Given the description of an element on the screen output the (x, y) to click on. 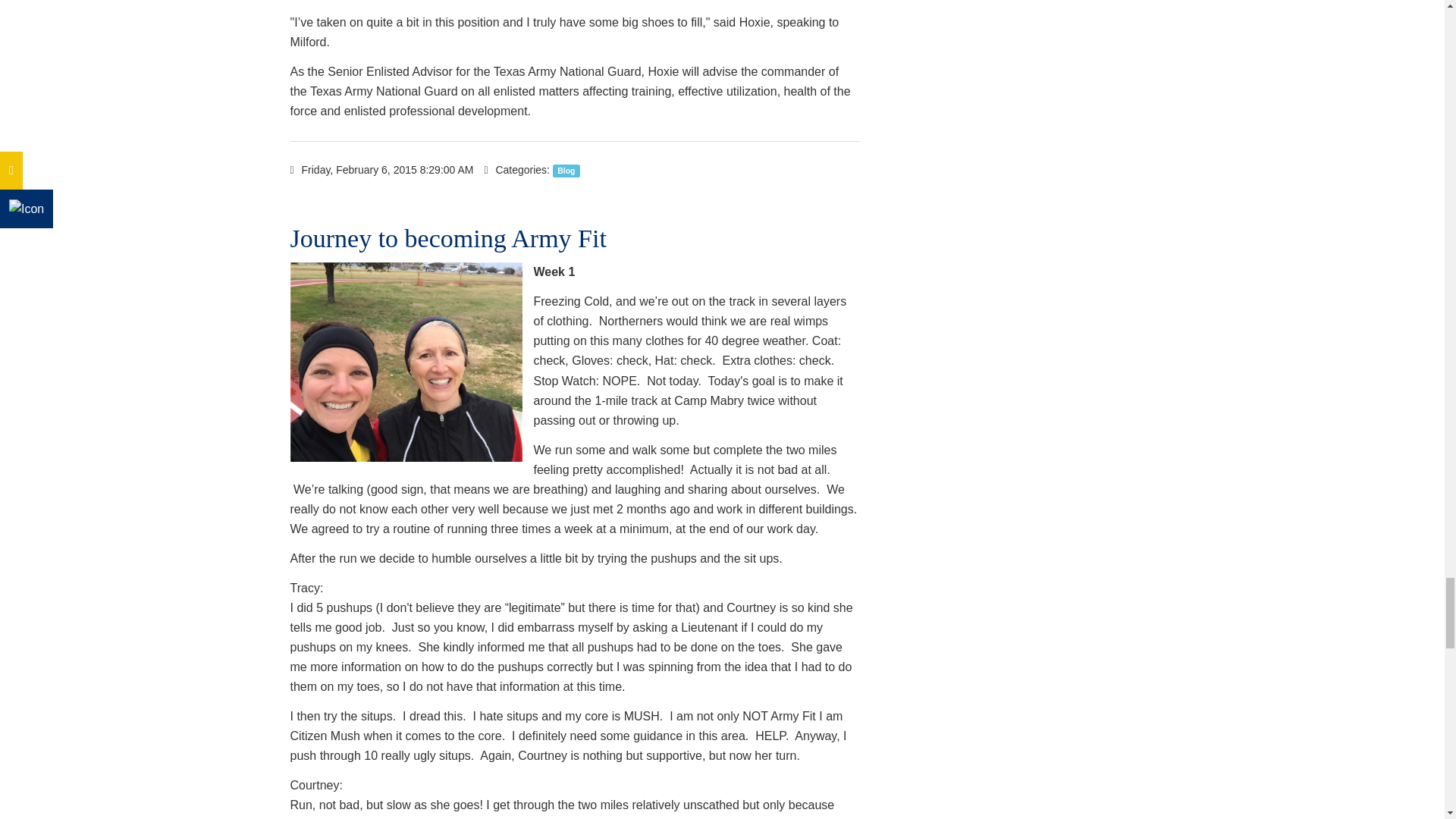
Blog (566, 170)
Journey to becoming Army Fit (447, 238)
